Given the description of an element on the screen output the (x, y) to click on. 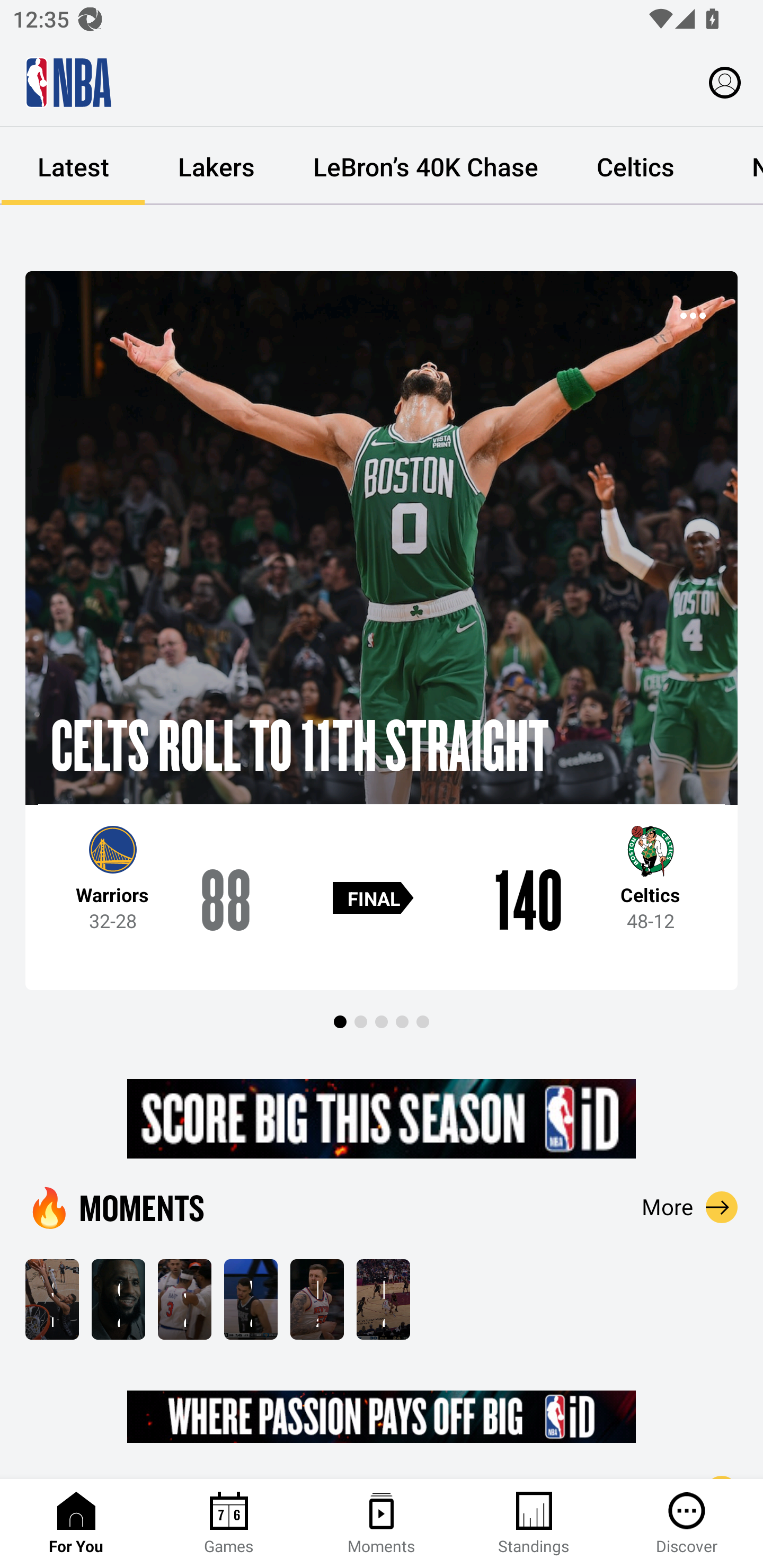
Profile (724, 81)
Lakers (215, 166)
LeBron’s 40K Chase (425, 166)
Celtics (634, 166)
More (689, 1207)
Sunday's Top Plays In 30 Seconds ⏱ (51, 1299)
Hartenstein Drops The Hammer 🔨 (317, 1299)
Games (228, 1523)
Moments (381, 1523)
Standings (533, 1523)
Discover (686, 1523)
